Given the description of an element on the screen output the (x, y) to click on. 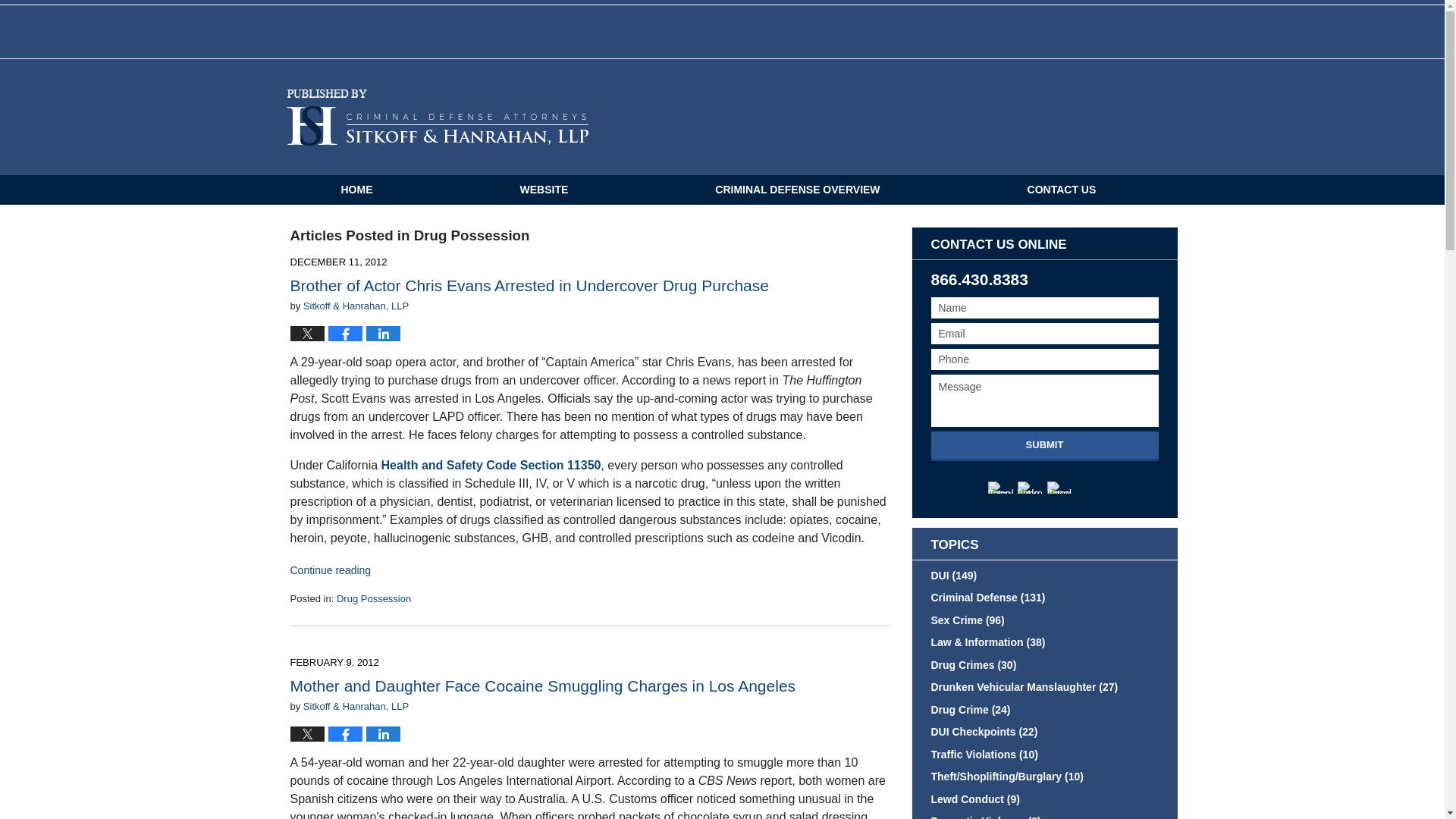
California Criminal Defense Attorneys (437, 117)
Please enter a valid phone number. (1044, 359)
CONTACT US (1061, 189)
Drug Possession (373, 598)
CRIMINAL DEFENSE OVERVIEW (797, 189)
LinkedIn (1028, 487)
Feed (1059, 487)
Health and Safety Code Section 11350 (491, 464)
Continue reading (330, 570)
WEBSITE (543, 189)
Facebook (999, 487)
